Given the description of an element on the screen output the (x, y) to click on. 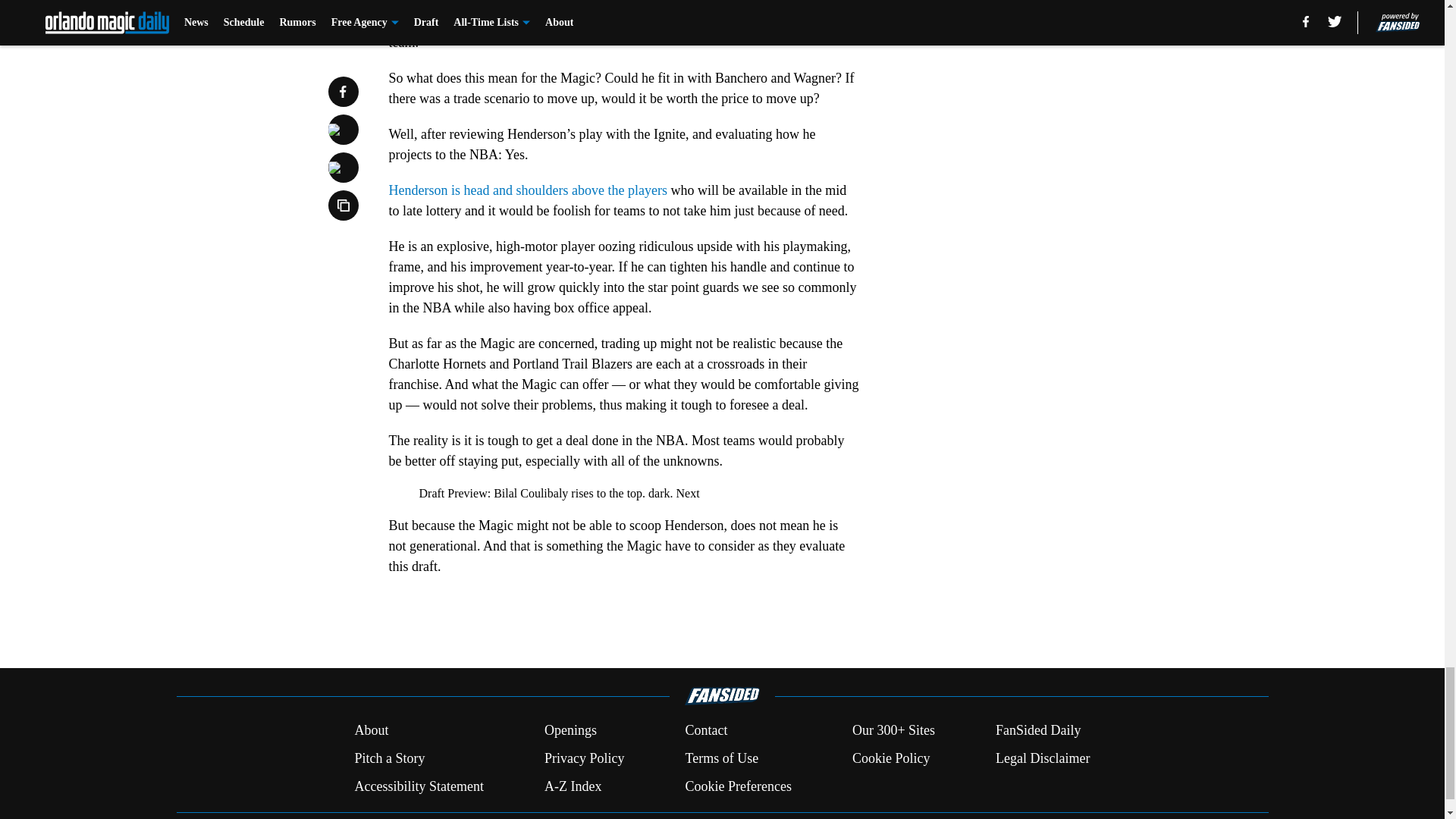
Contact (705, 730)
Cookie Policy (890, 758)
Accessibility Statement (418, 786)
Legal Disclaimer (1042, 758)
Terms of Use (721, 758)
FanSided Daily (1038, 730)
Privacy Policy (584, 758)
About (370, 730)
Openings (570, 730)
Henderson is head and shoulders above the players (527, 190)
